Given the description of an element on the screen output the (x, y) to click on. 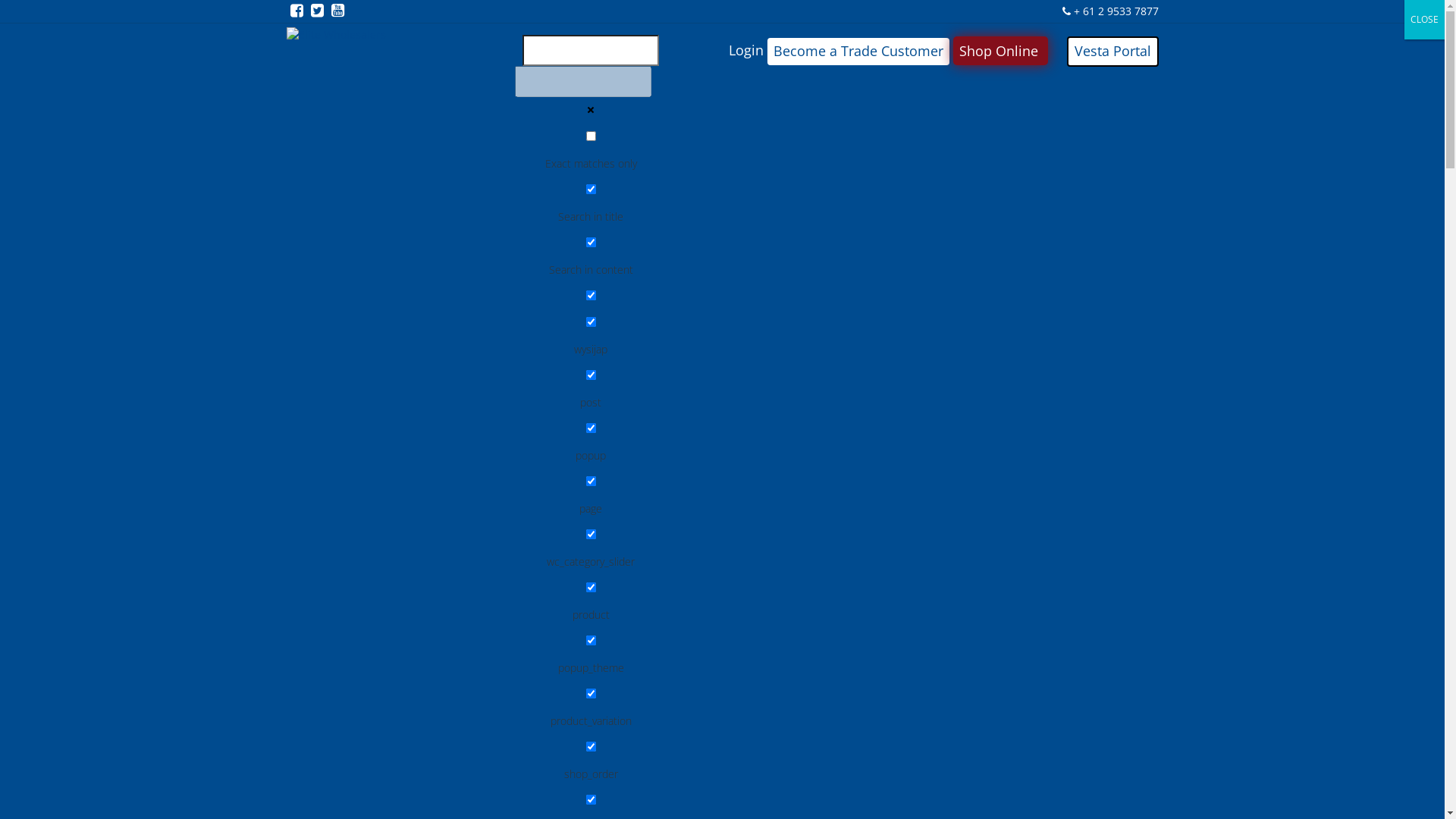
Login Element type: text (745, 49)
Become a Trade Customer Element type: text (858, 51)
Start search Element type: text (660, 67)
Vesta Portal Element type: text (1111, 51)
Shop Online Element type: text (997, 51)
CLOSE Element type: text (1424, 19)
+ 61 2 9533 7877 Element type: text (1109, 10)
